Given the description of an element on the screen output the (x, y) to click on. 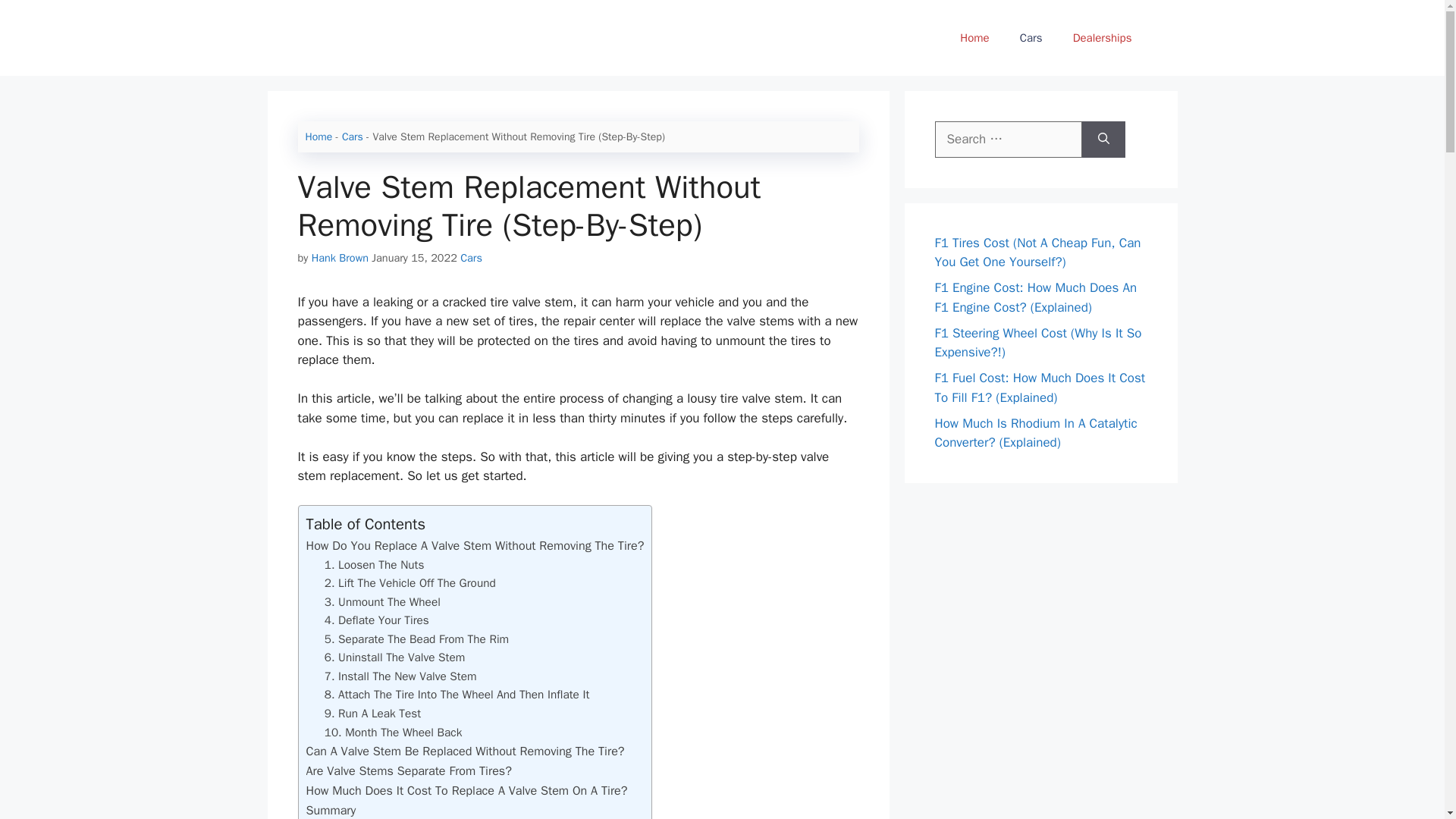
Dealerships (1102, 37)
4. Deflate Your Tires (376, 620)
Cars (1031, 37)
2. Lift The Vehicle Off The Ground (410, 582)
Are Valve Stems Separate From Tires? (408, 770)
Cars (352, 136)
8. Attach The Tire Into The Wheel And Then Inflate It (456, 694)
Can A Valve Stem Be Replaced Without Removing The Tire? (464, 750)
3. Unmount The Wheel (382, 601)
10. Month The Wheel Back (393, 732)
